Given the description of an element on the screen output the (x, y) to click on. 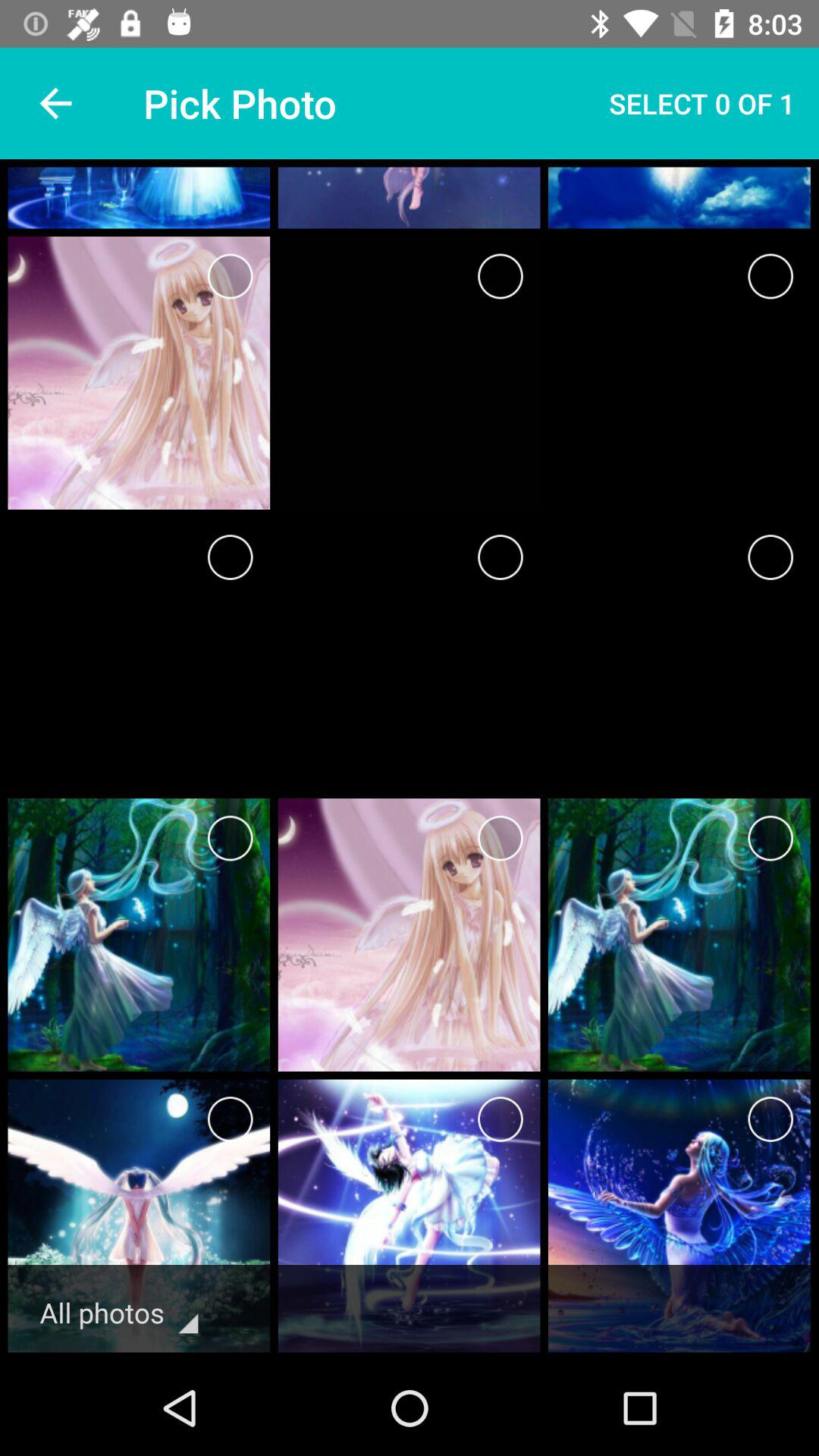
choose a picture (770, 276)
